Given the description of an element on the screen output the (x, y) to click on. 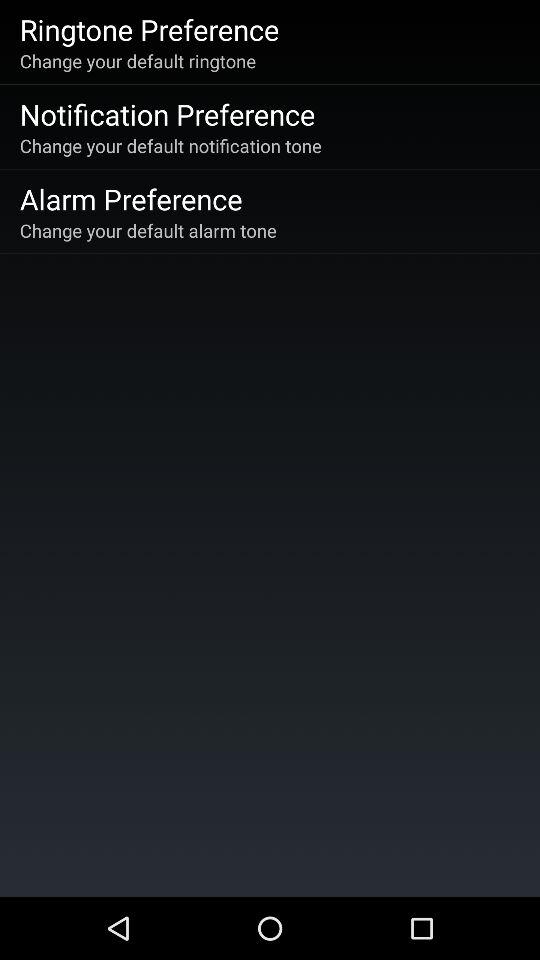
select icon above the change your default item (149, 29)
